Given the description of an element on the screen output the (x, y) to click on. 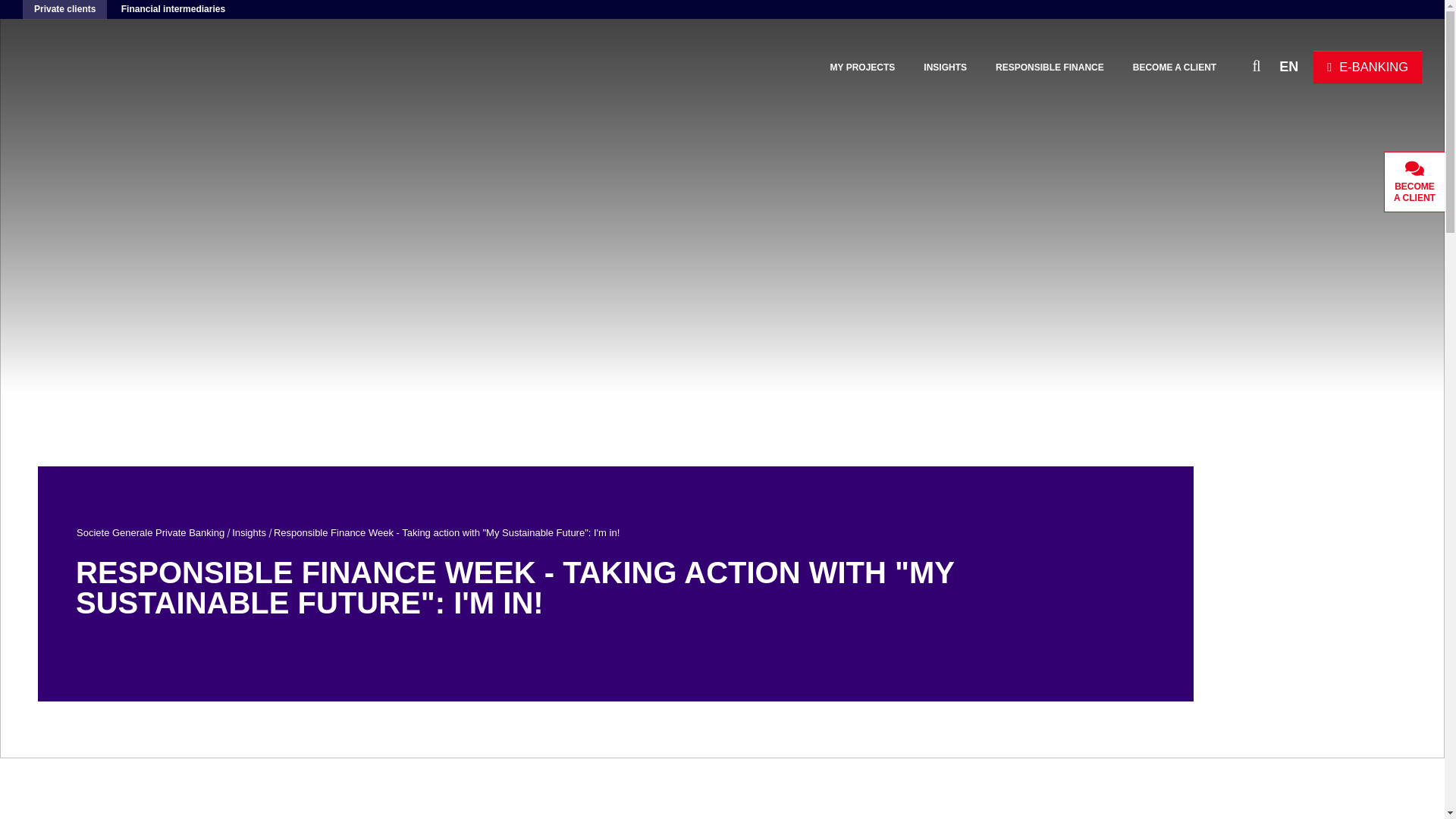
Financial intermediaries (172, 9)
INSIGHTS (944, 67)
Private clients (64, 9)
Insights (248, 531)
Societe Generale Private Banking (150, 531)
E-BANKING (1367, 66)
Private clients (64, 9)
Search with Quantum (1230, 64)
Financial intermediaries (172, 9)
BECOME A CLIENT (1173, 67)
